Given the description of an element on the screen output the (x, y) to click on. 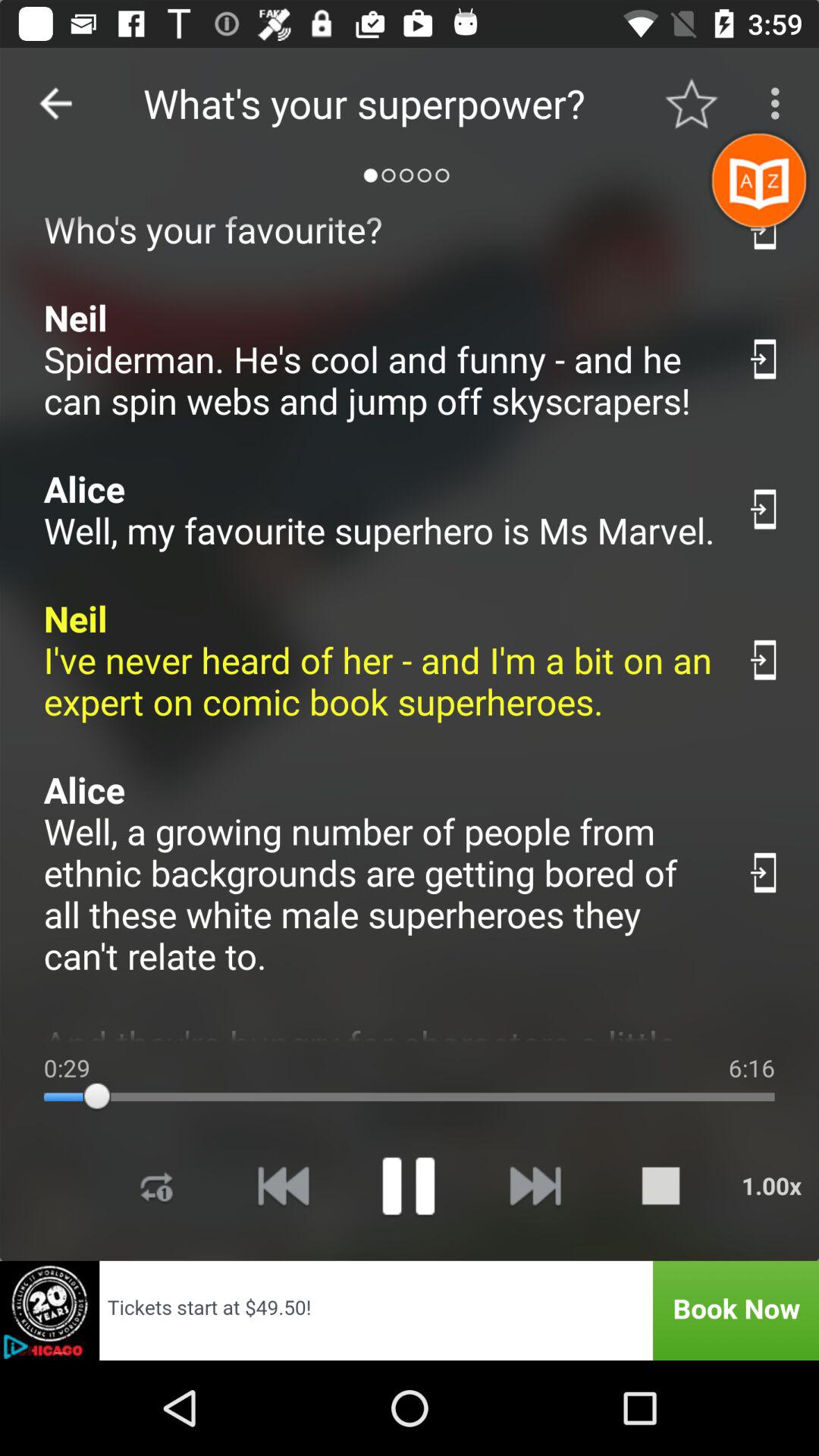
open the book tickets tab (409, 1310)
